Given the description of an element on the screen output the (x, y) to click on. 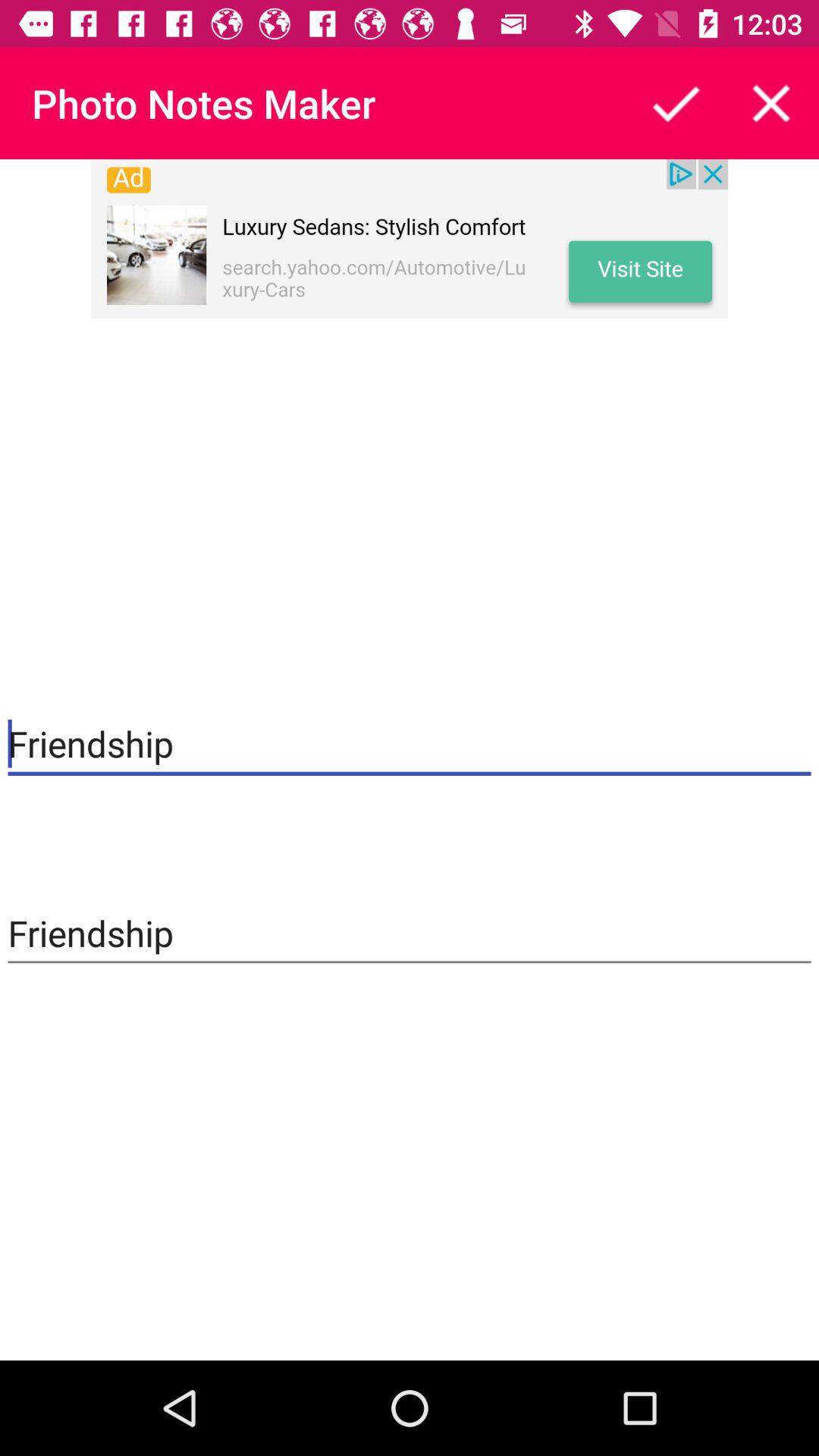
go to select option (675, 103)
